Given the description of an element on the screen output the (x, y) to click on. 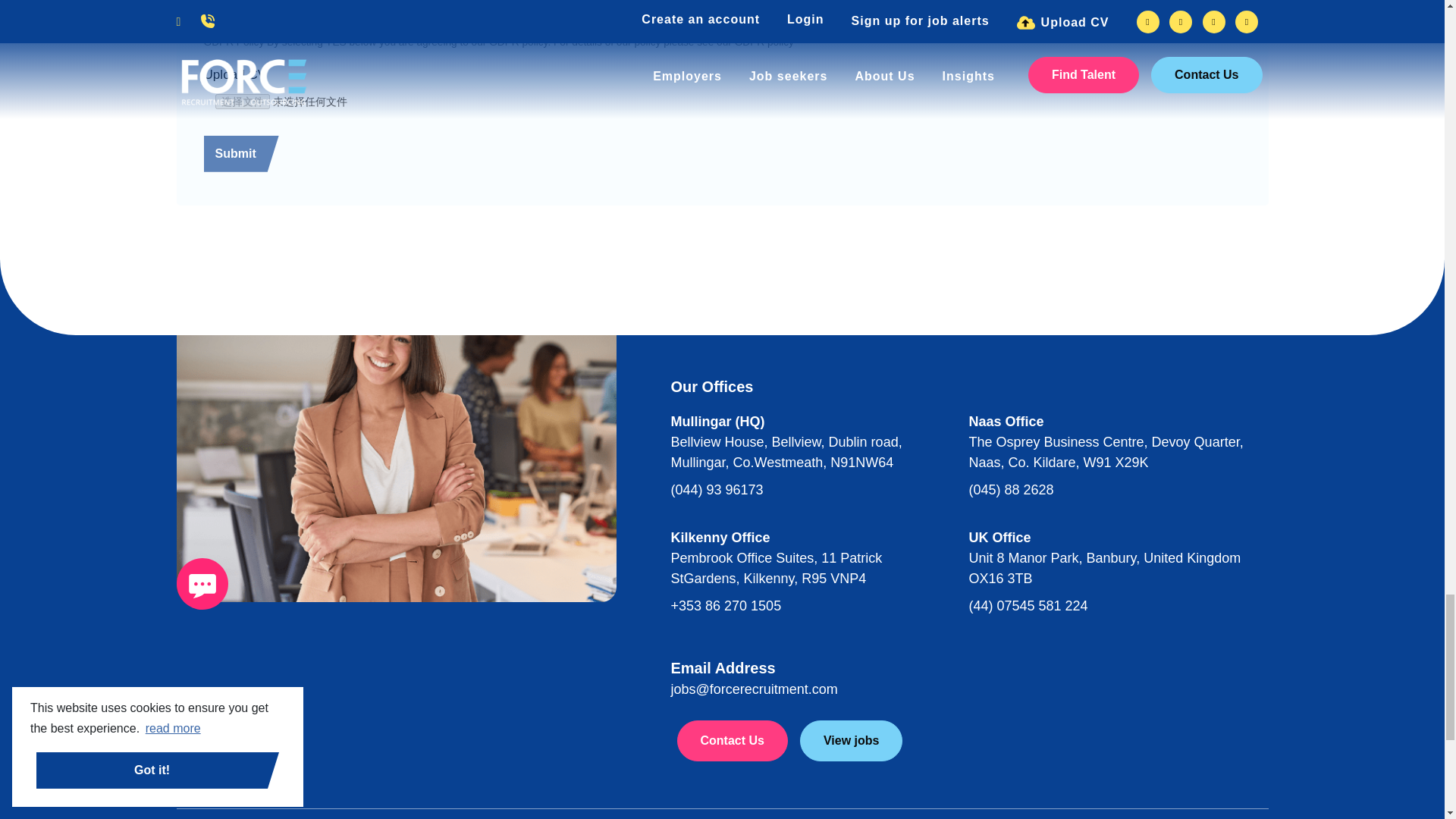
Submit (240, 153)
.......    Yes, I agree (207, 13)
contact us (201, 583)
